Given the description of an element on the screen output the (x, y) to click on. 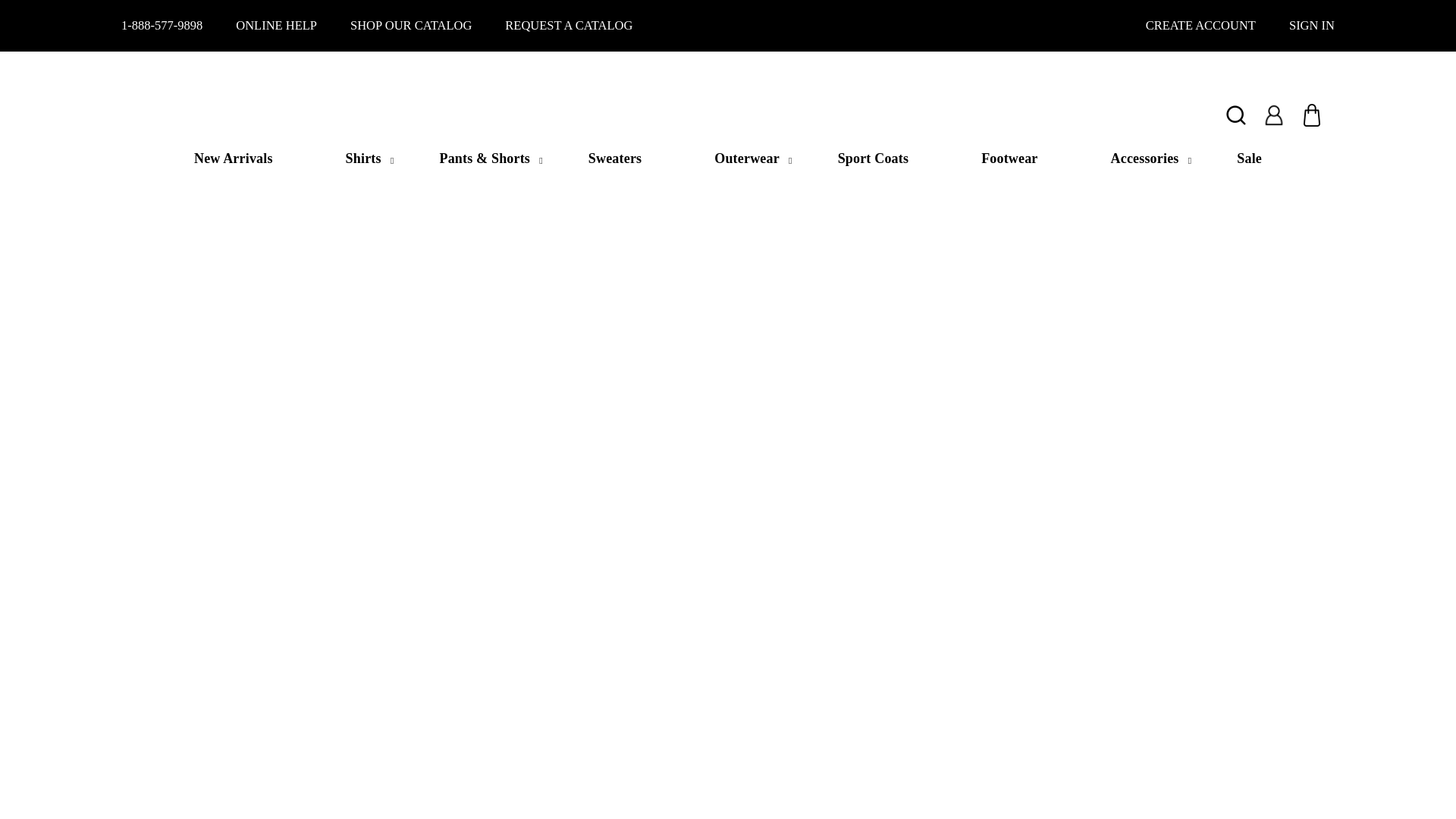
CREATE ACCOUNT (1200, 25)
SHOP OUR CATALOG (410, 25)
ONLINE HELP (276, 25)
Sport Coats (873, 158)
Shirts (355, 158)
Footwear (1009, 158)
Sale (1248, 158)
Outerwear (739, 158)
1-888-577-9898 (161, 25)
Sweaters (614, 158)
